Given the description of an element on the screen output the (x, y) to click on. 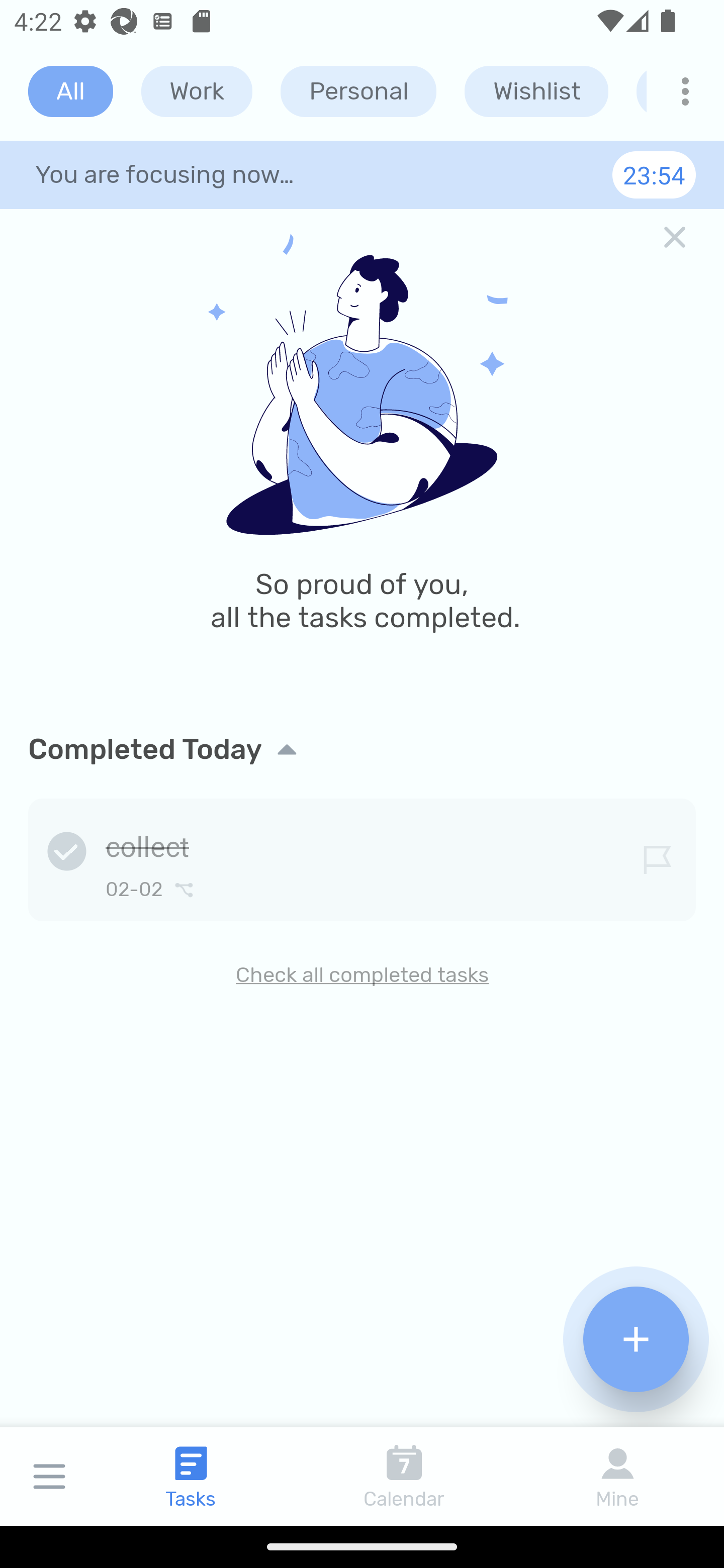
All (70, 91)
Work (196, 91)
Personal (358, 91)
Wishlist (536, 91)
You are focusing now… 23:55 (362, 174)
So proud of you,
 all the tasks completed. (362, 457)
Completed Today (362, 749)
collect 02-02 (362, 856)
Check all completed tasks (361, 974)
Tasks (190, 1475)
Calendar (404, 1475)
Mine (617, 1475)
